Given the description of an element on the screen output the (x, y) to click on. 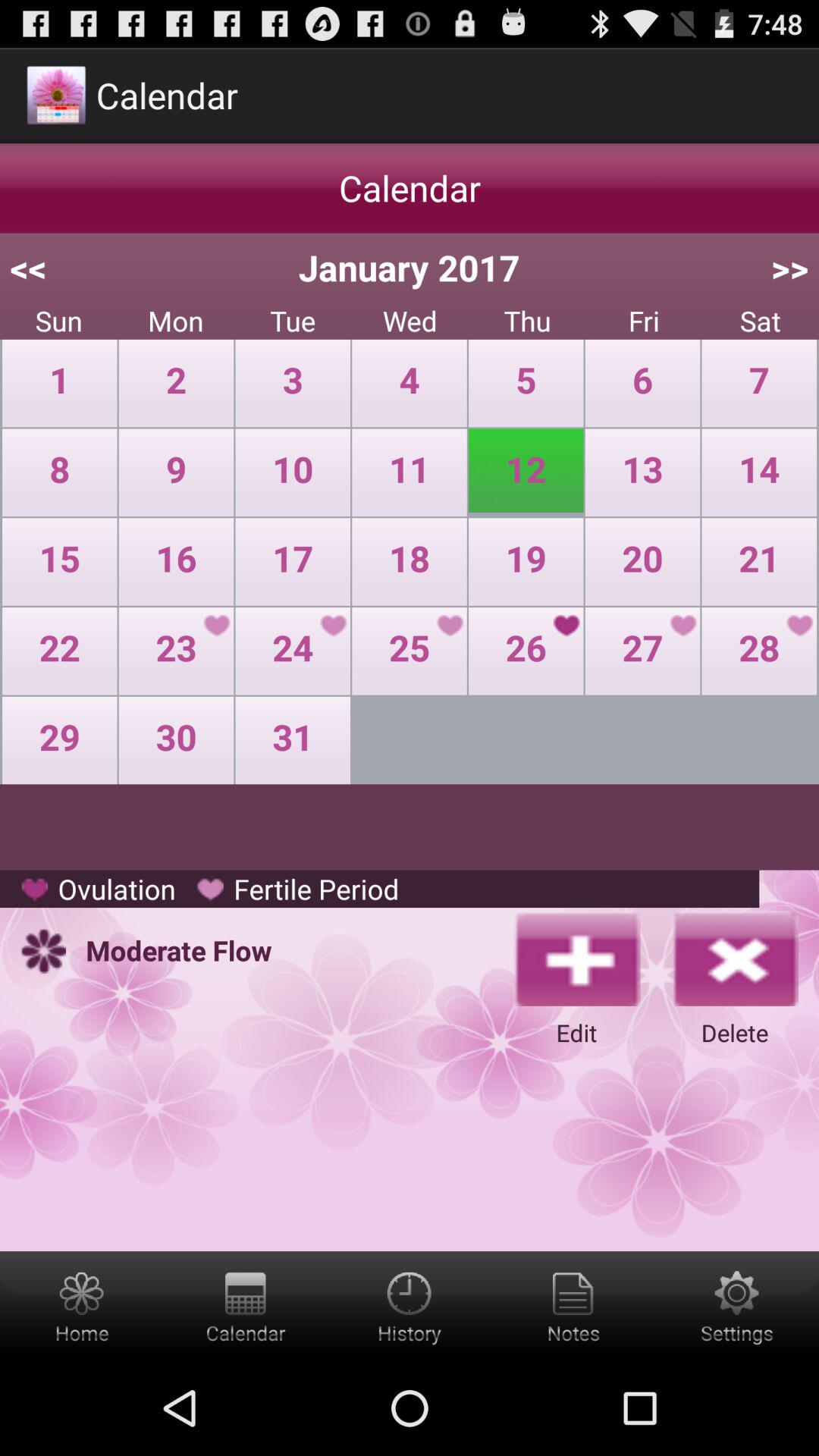
add notes here (573, 1305)
